Given the description of an element on the screen output the (x, y) to click on. 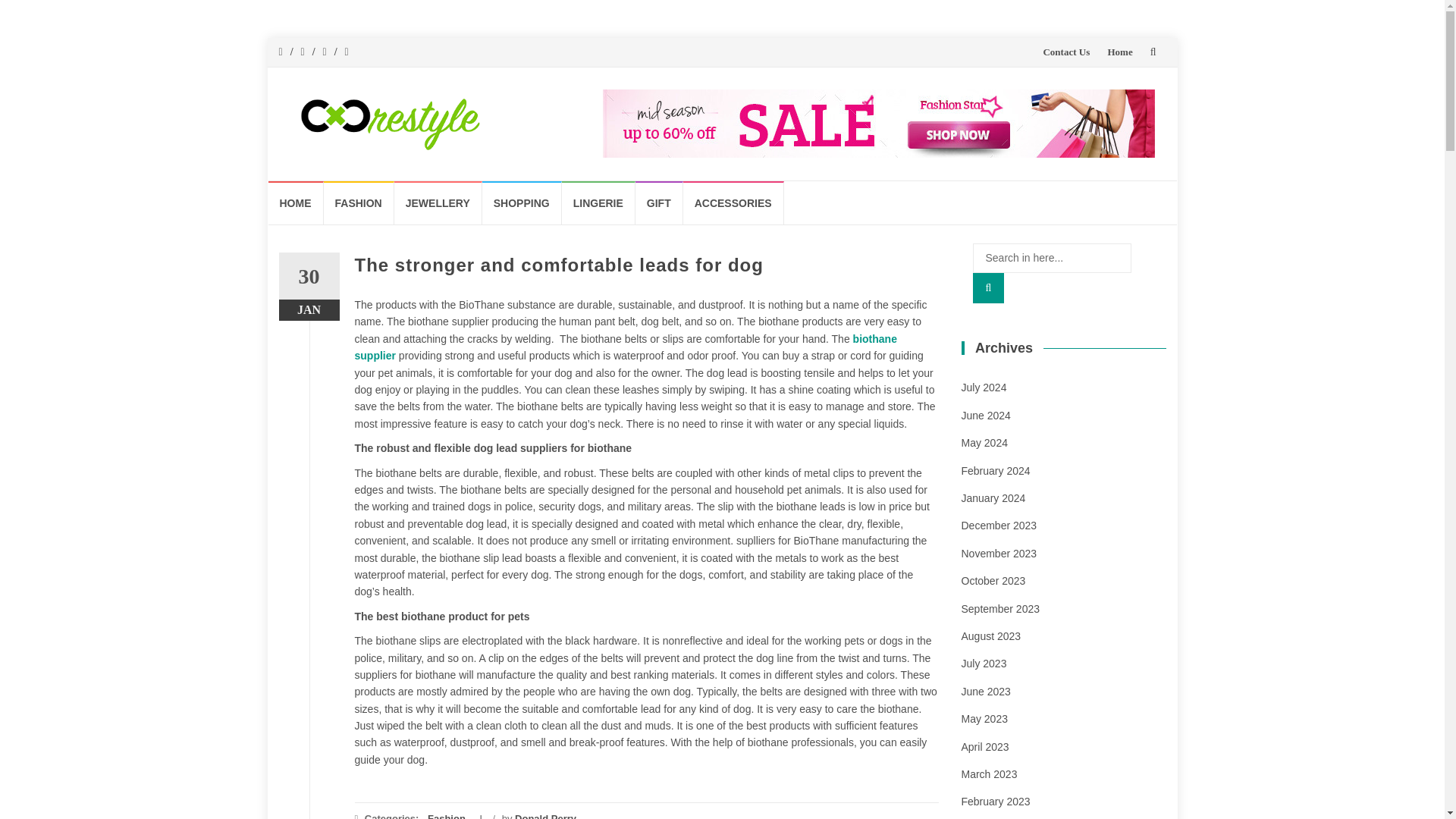
LINGERIE (598, 201)
SHOPPING (521, 201)
Donald Perry (545, 816)
Search for: (1051, 257)
HOME (295, 201)
Contact Us (1065, 51)
GIFT (658, 201)
FASHION (358, 201)
Fashion (446, 816)
Home (1119, 51)
biothane supplier (625, 346)
Search (988, 287)
